Given the description of an element on the screen output the (x, y) to click on. 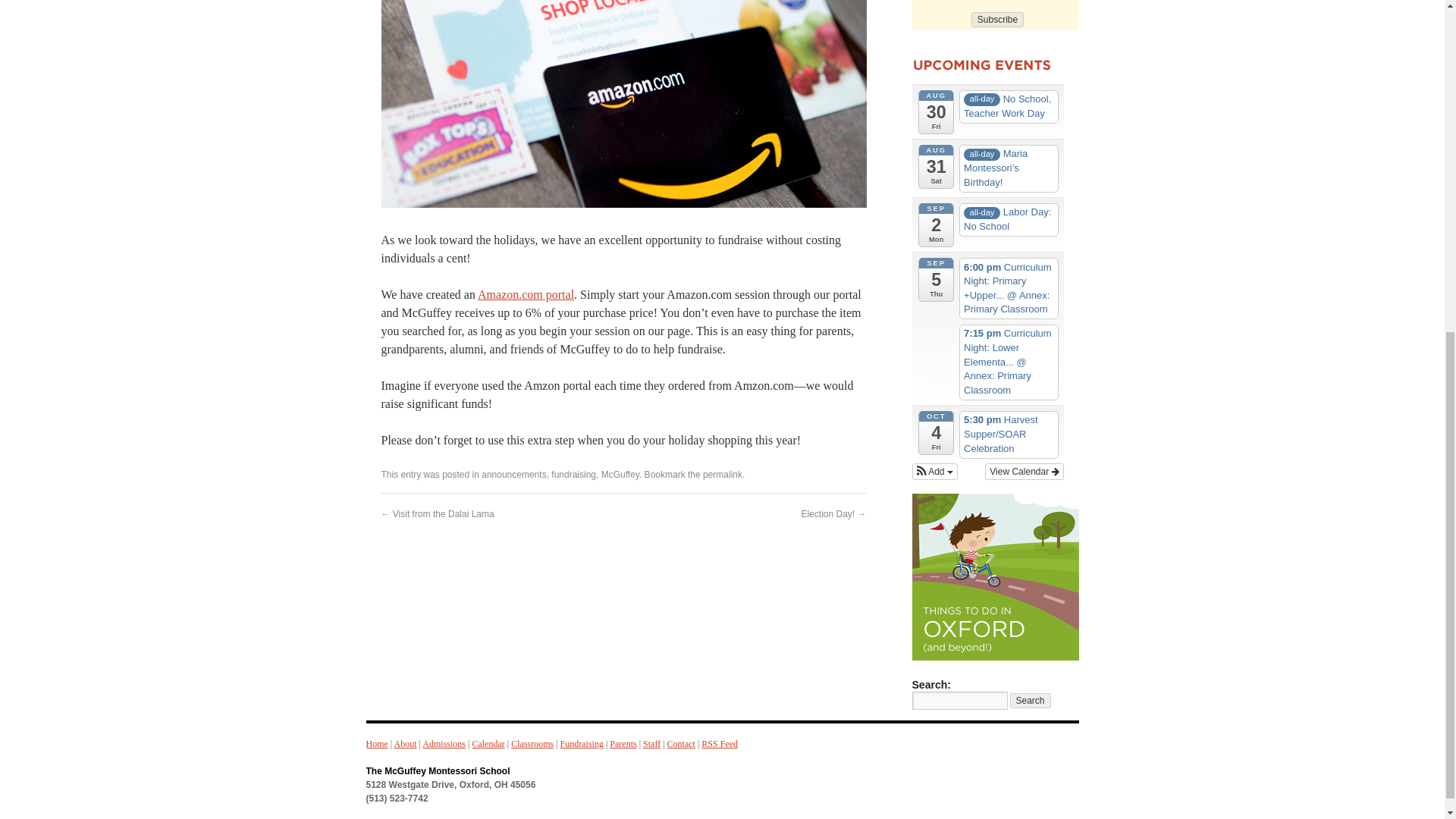
Search (1030, 700)
Subscribe (997, 19)
Permalink to Fundraising Monday: Amazon (722, 474)
The McGuffey Montessori School (437, 770)
